Given the description of an element on the screen output the (x, y) to click on. 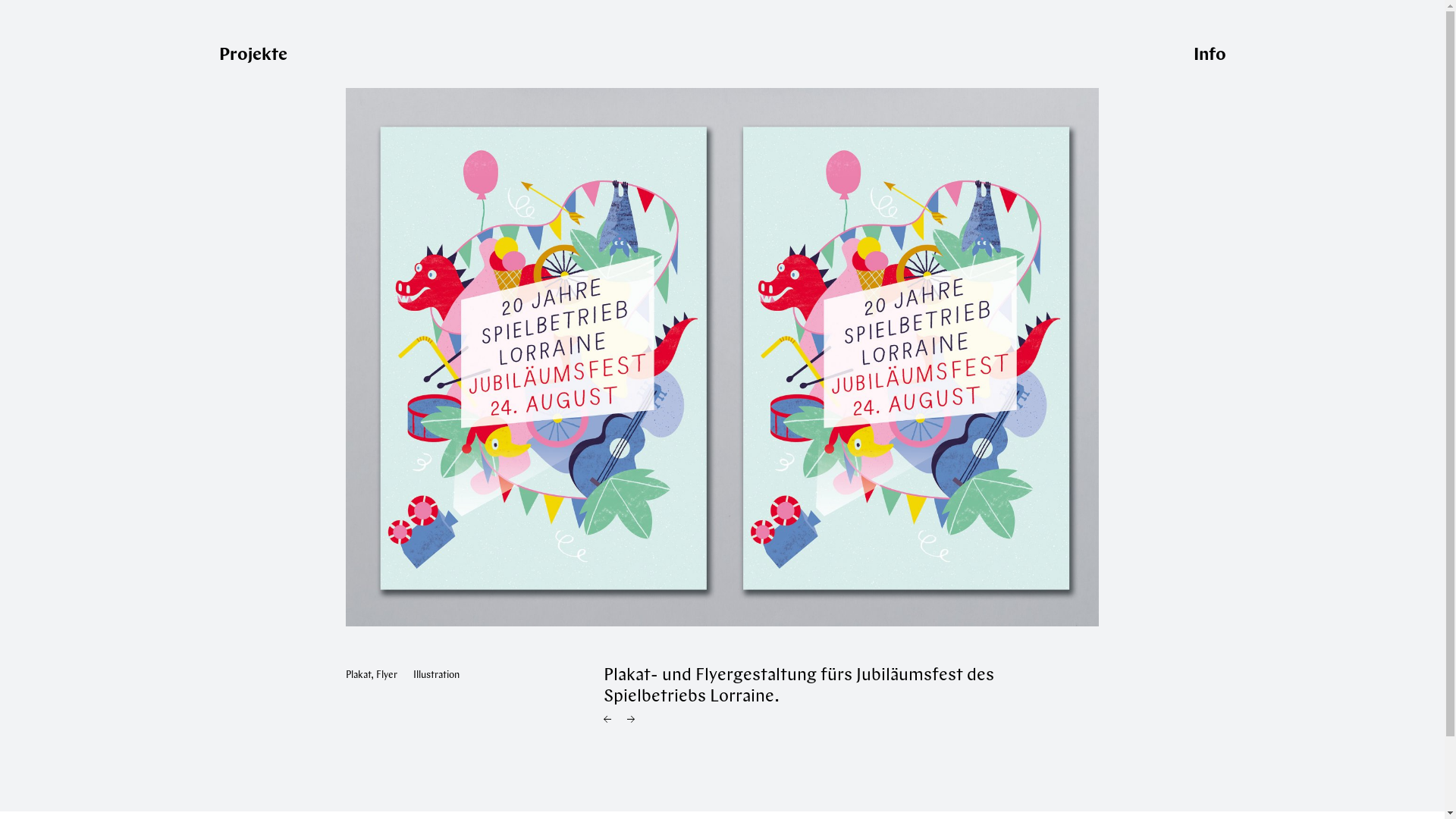
Projekte Element type: text (252, 55)
Plakat, Flyer Element type: text (371, 675)
Illustration Element type: text (436, 675)
Info Element type: text (1208, 55)
